Given the description of an element on the screen output the (x, y) to click on. 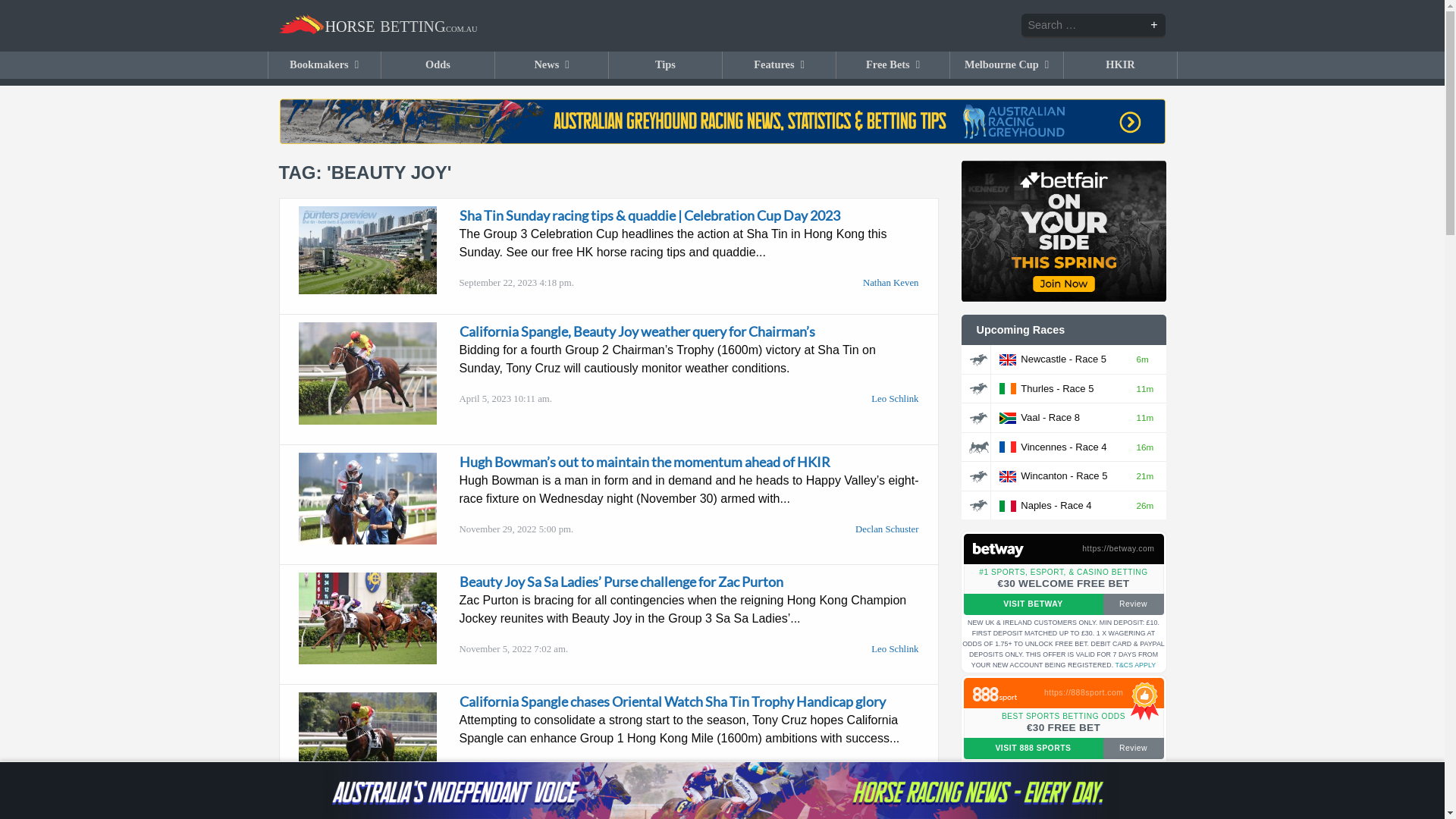
Leo Schlink Element type: text (894, 706)
Leo Schlink Element type: text (894, 586)
Melbourne Cup Element type: text (1006, 64)
https://betway.com Element type: text (1118, 344)
Declan Schuster Element type: text (887, 466)
Horse Race Element type: hover (978, 418)
Features Element type: text (779, 64)
Visit ARG Element type: hover (721, 114)
Play at 888 Sportsbook Element type: hover (994, 694)
Leo Schlink Element type: text (894, 336)
BEST SPORTS BETTING ODDS Element type: text (1062, 511)
Thurles - Race 5 11m Element type: text (1063, 183)
Free Bets Element type: text (893, 64)
Search for: Element type: hover (1093, 25)
Harness Race Element type: hover (978, 447)
Newcastle - Race 5 6m Element type: text (1063, 154)
News Element type: text (551, 64)
VISIT BETWAY Element type: text (1032, 399)
Tips Element type: text (665, 64)
Review Element type: text (1132, 543)
Review Element type: text (1132, 399)
Barzalona hopes to time it right on latest Hong Kong mission Element type: text (1063, 728)
HKIR Element type: text (1120, 64)
+ Element type: text (1153, 24)
Horse Race Element type: hover (978, 476)
Wincanton - Race 5 21m Element type: text (1063, 271)
FULL TERMS & CONDITIONS APPLY. Element type: text (1101, 657)
Betfair - ON YOUR SIDE Element type: hover (1063, 231)
#1 SPORTS, ESPORT, & CASINO BETTING Element type: text (1062, 367)
Vaal - Race 8 11m Element type: text (1063, 213)
Horse Race Element type: hover (978, 360)
California Spangle 54 Element type: hover (367, 373)
Horse Betting Element type: hover (378, 25)
Claim bonus at 888 Element type: hover (1002, 693)
Horse Race Element type: hover (978, 505)
Punt Drunk: Rough results send punters over the edge Element type: text (617, 759)
VISIT 888 SPORTS Element type: text (1032, 543)
Play at Betway Element type: hover (997, 549)
Horse Race Element type: hover (978, 388)
Nathan Keven Element type: text (890, 220)
Hugh Bowman Element type: hover (367, 498)
Naples - Race 4 26m Element type: text (1063, 299)
Ben Foote hoping momentum can carryover to Pukekohe Element type: text (1063, 768)
Vincennes - Race 4 16m Element type: text (1063, 242)
Claim bonus at Betway Element type: hover (1002, 548)
Odds Element type: text (438, 64)
Horse Betting Element type: hover (378, 24)
https://888sport.com Element type: text (1083, 488)
T&CS APPLY Element type: text (1135, 460)
Sha Tin Preview Element type: hover (367, 250)
Bookmakers Element type: text (324, 64)
